Given the description of an element on the screen output the (x, y) to click on. 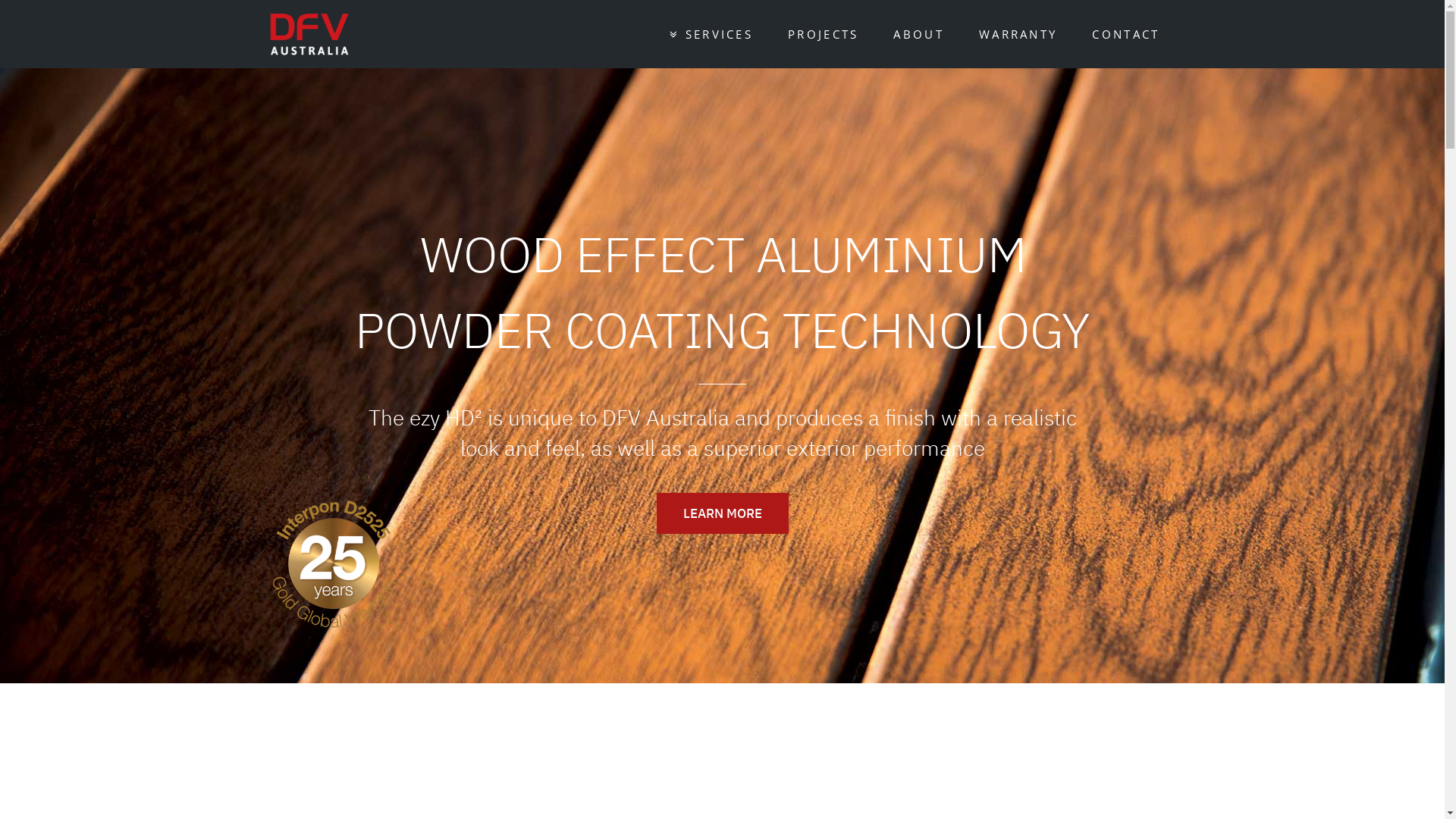
SERVICES Element type: text (711, 34)
PROJECTS Element type: text (822, 34)
ABOUT Element type: text (918, 34)
CONTACT Element type: text (1125, 34)
WARRANTY Element type: text (1017, 34)
